Given the description of an element on the screen output the (x, y) to click on. 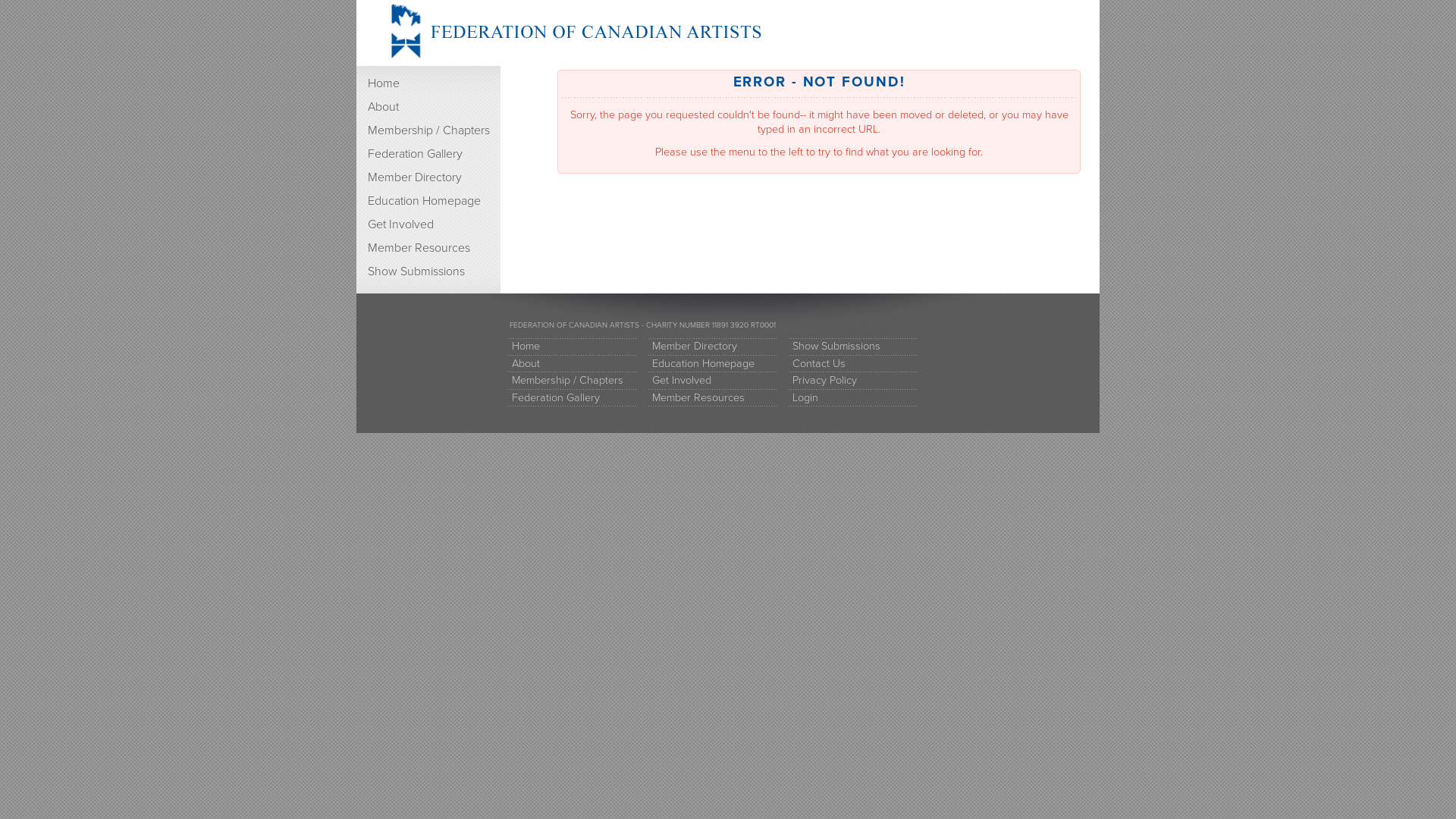
Member Resources Element type: text (712, 398)
Get Involved Element type: text (428, 224)
Contact Us Element type: text (852, 364)
Login Element type: text (852, 398)
Show Submissions Element type: text (852, 346)
Membership / Chapters Element type: text (428, 130)
Federation Gallery Element type: text (428, 154)
Privacy Policy Element type: text (852, 380)
Member Resources Element type: text (428, 248)
Education Homepage Element type: text (712, 364)
About Element type: text (428, 107)
Home Element type: text (572, 346)
Member Directory Element type: text (428, 177)
Show Submissions Element type: text (428, 271)
Membership / Chapters Element type: text (572, 380)
Home Element type: text (428, 83)
Get Involved Element type: text (712, 380)
Member Directory Element type: text (712, 346)
Education Homepage Element type: text (428, 201)
About Element type: text (572, 364)
Federation Gallery Element type: text (572, 398)
